Given the description of an element on the screen output the (x, y) to click on. 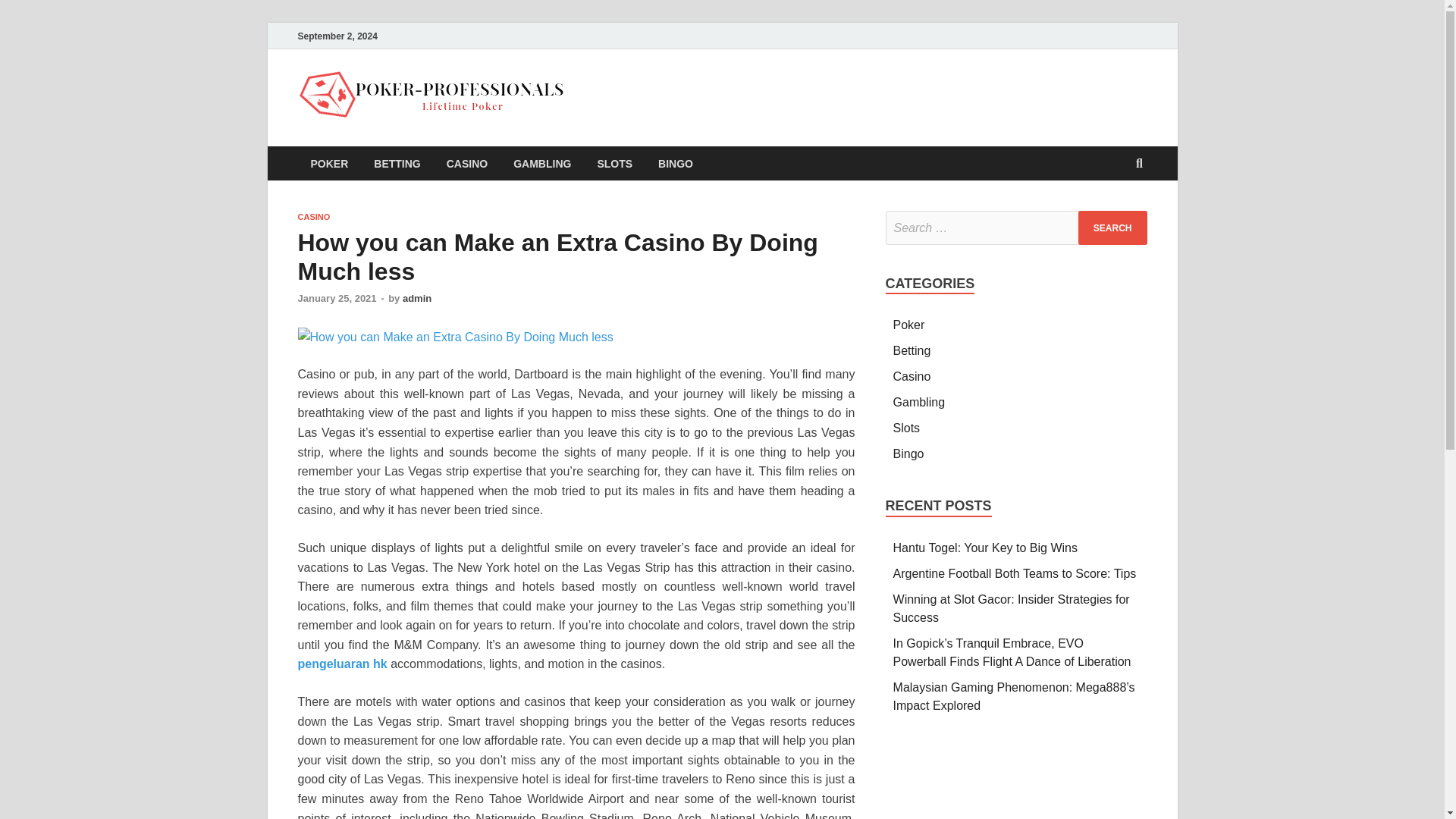
admin (416, 297)
CASINO (313, 216)
GAMBLING (541, 163)
POKER (329, 163)
BETTING (396, 163)
SLOTS (614, 163)
Poker-Professionals (708, 100)
CASINO (466, 163)
Casino (912, 376)
BINGO (675, 163)
